Given the description of an element on the screen output the (x, y) to click on. 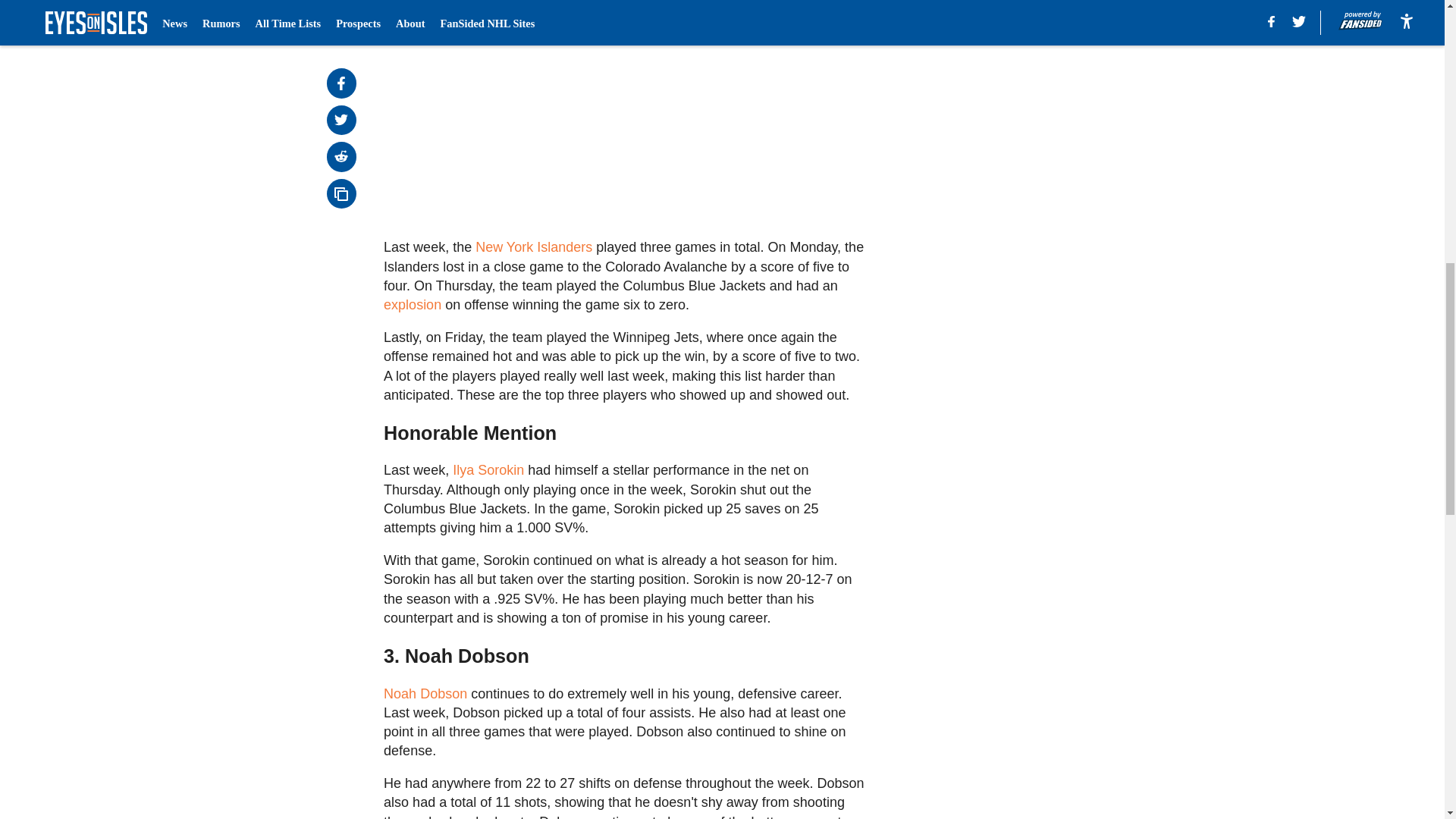
explosion (412, 304)
Ilya Sorokin (488, 469)
New York Islanders (535, 246)
Noah Dobson (425, 693)
